Given the description of an element on the screen output the (x, y) to click on. 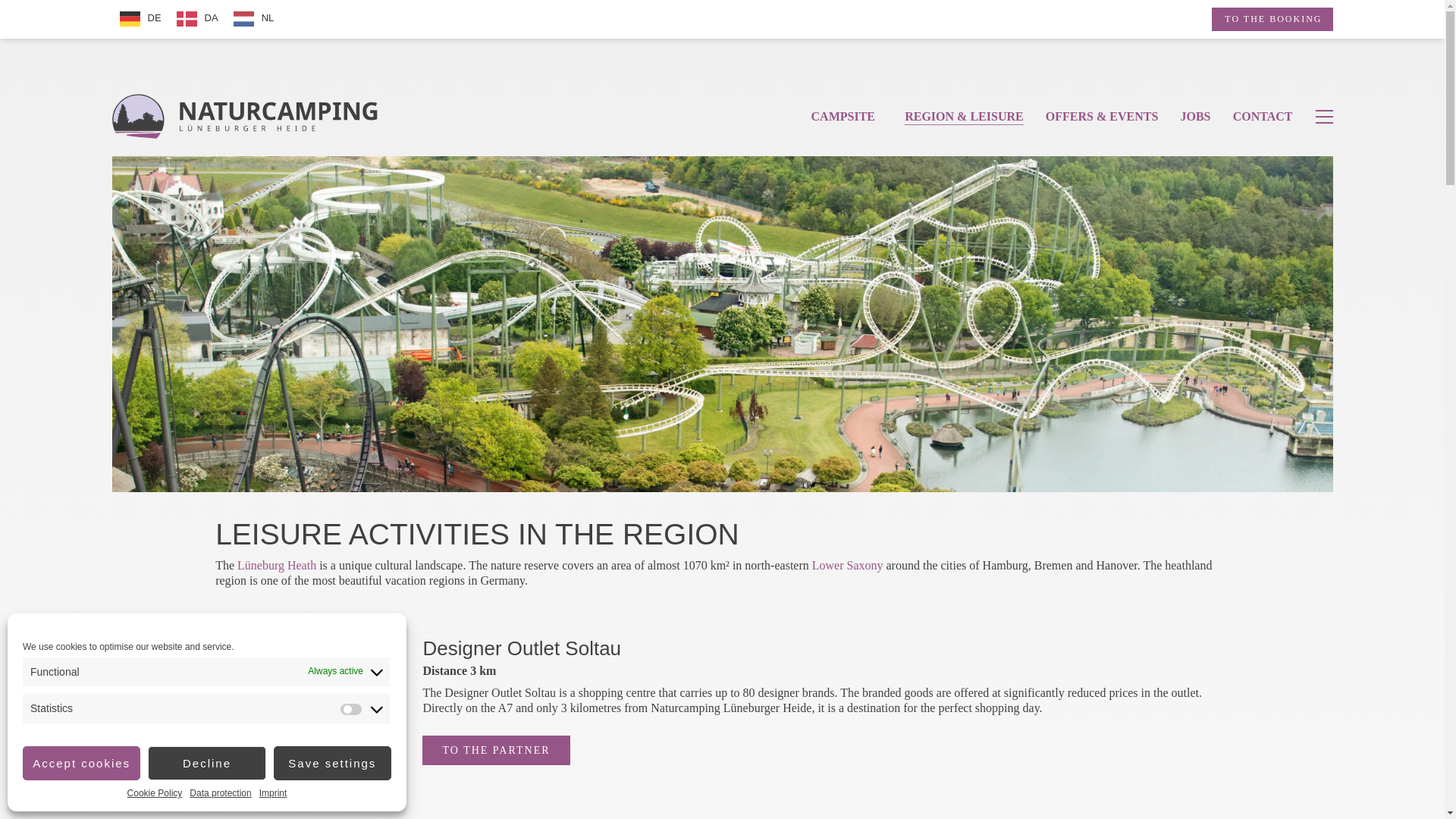
Data protection (219, 793)
CAMPSITE (842, 116)
Language switcher : Dutch (253, 18)
DA (196, 18)
TO THE BOOKING (1271, 19)
Save settings (332, 763)
Language switcher : German (140, 18)
NL (253, 18)
Imprint (272, 793)
Cookie Policy (155, 793)
Language switcher : Danish (196, 18)
Accept cookies (81, 763)
DE (140, 18)
Decline (206, 763)
